Given the description of an element on the screen output the (x, y) to click on. 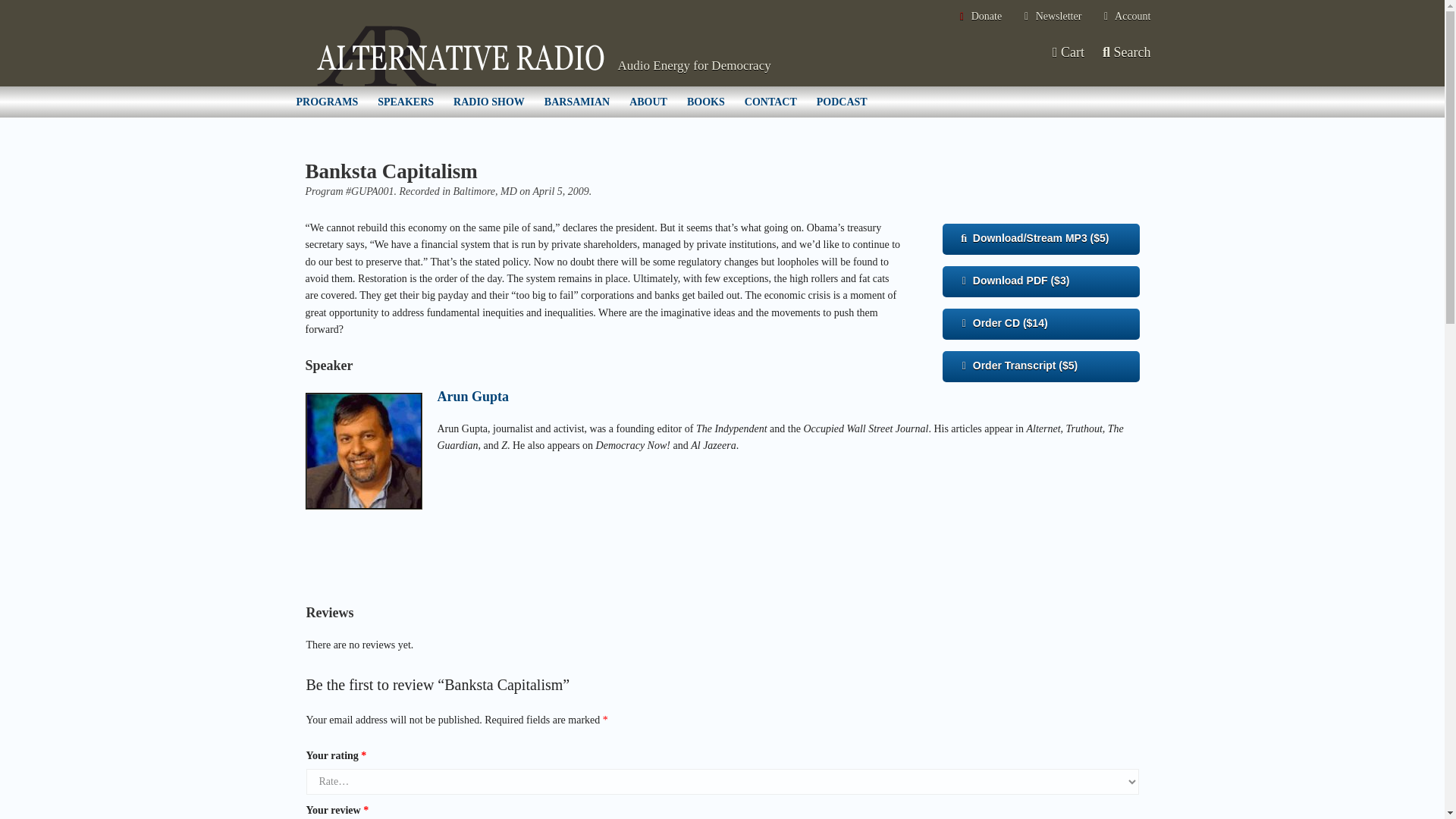
Account (1125, 16)
Donate (978, 16)
SPEAKERS (406, 101)
Search (1126, 52)
PROGRAMS (327, 101)
Newsletter (1050, 16)
Alternative Radio (460, 55)
Cart (1066, 52)
